Given the description of an element on the screen output the (x, y) to click on. 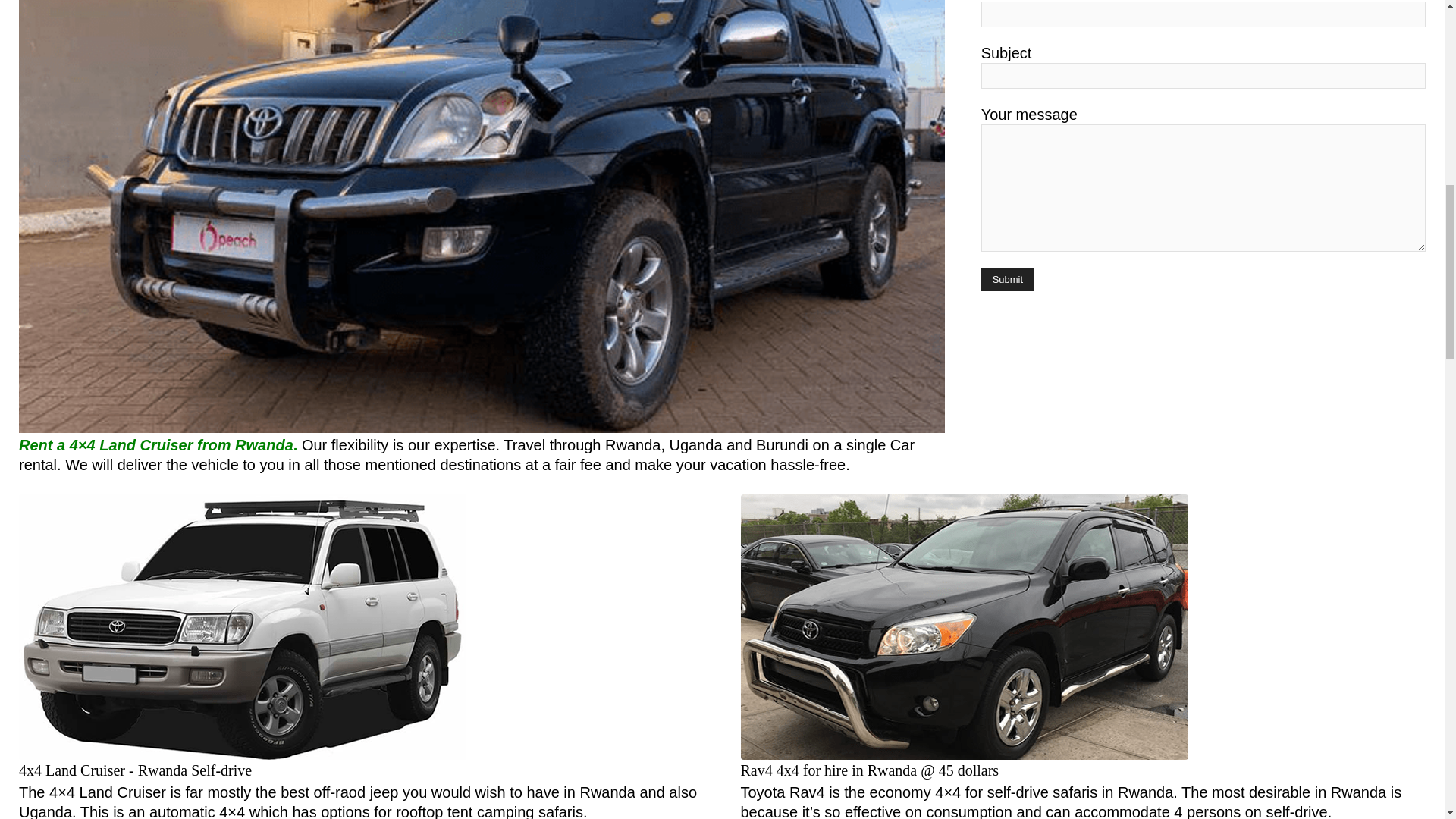
Submit (1007, 279)
